Given the description of an element on the screen output the (x, y) to click on. 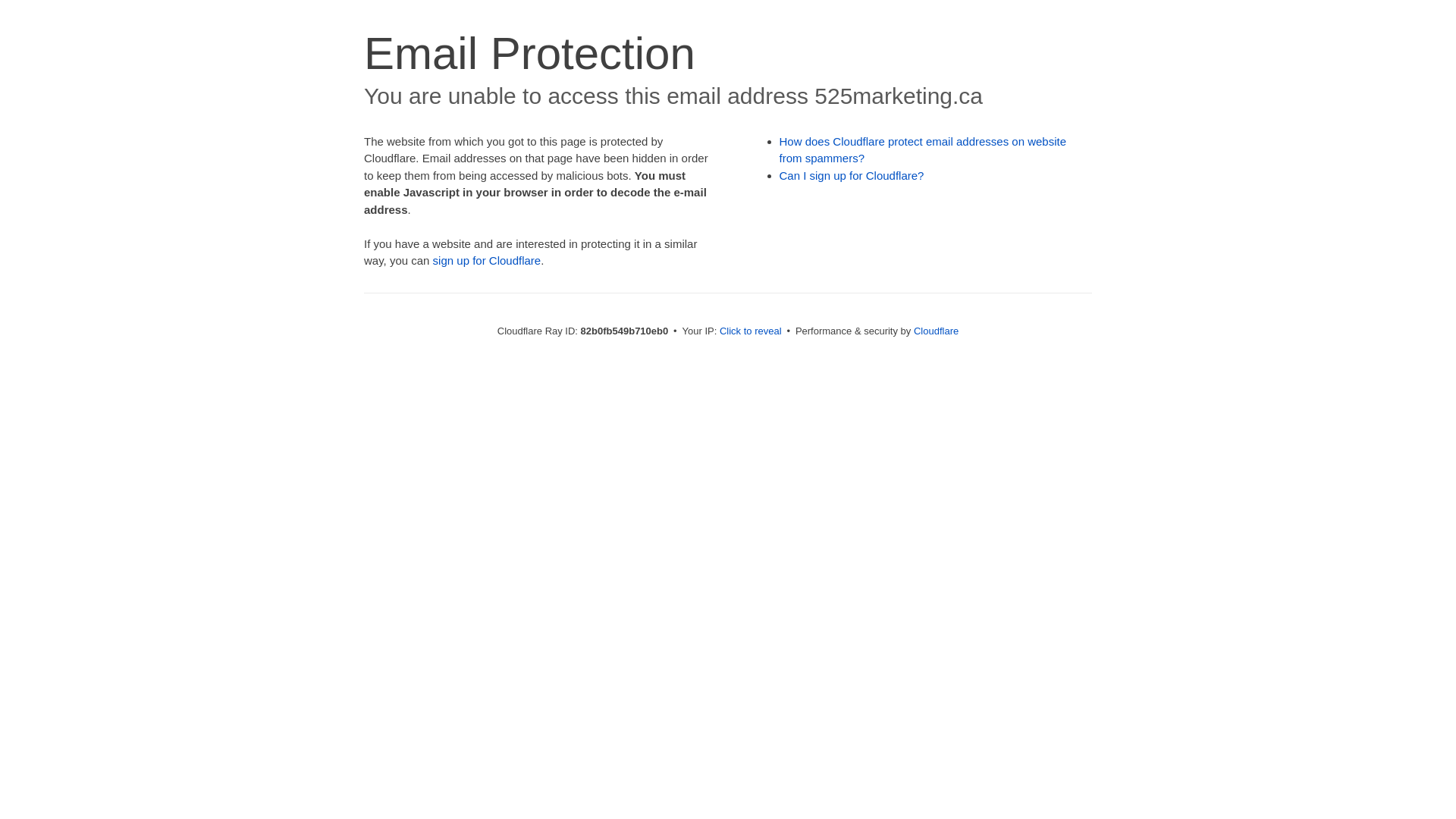
sign up for Cloudflare Element type: text (487, 260)
Click to reveal Element type: text (750, 330)
Can I sign up for Cloudflare? Element type: text (851, 175)
Cloudflare Element type: text (935, 330)
